Given the description of an element on the screen output the (x, y) to click on. 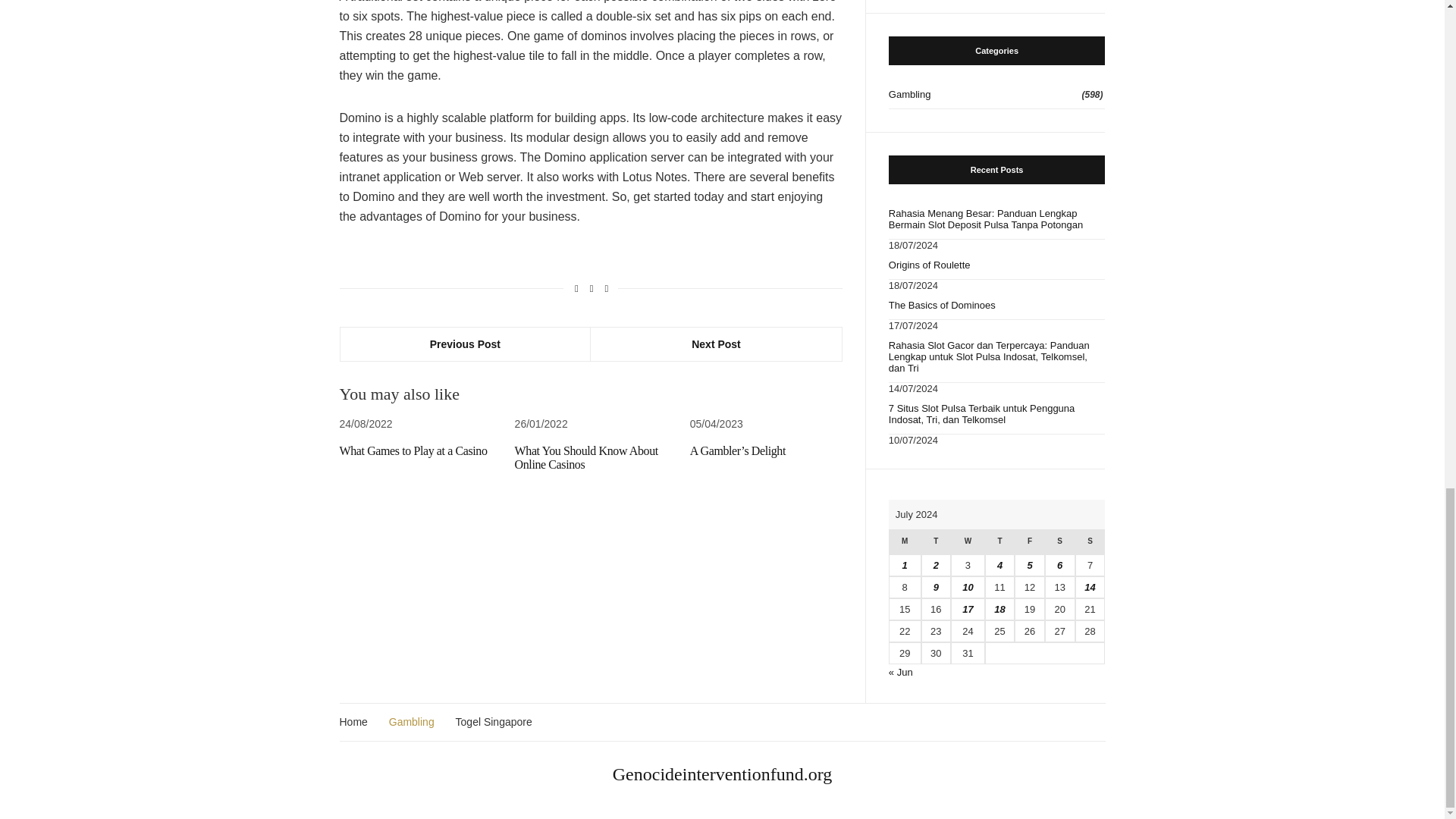
Saturday (1060, 541)
What Games to Play at a Casino (413, 449)
Tuesday (935, 541)
Sunday (1090, 541)
What You Should Know About Online Casinos (586, 456)
Friday (1028, 541)
Monday (904, 541)
Next Post (716, 344)
Previous Post (465, 344)
Wednesday (967, 541)
Thursday (999, 541)
